Given the description of an element on the screen output the (x, y) to click on. 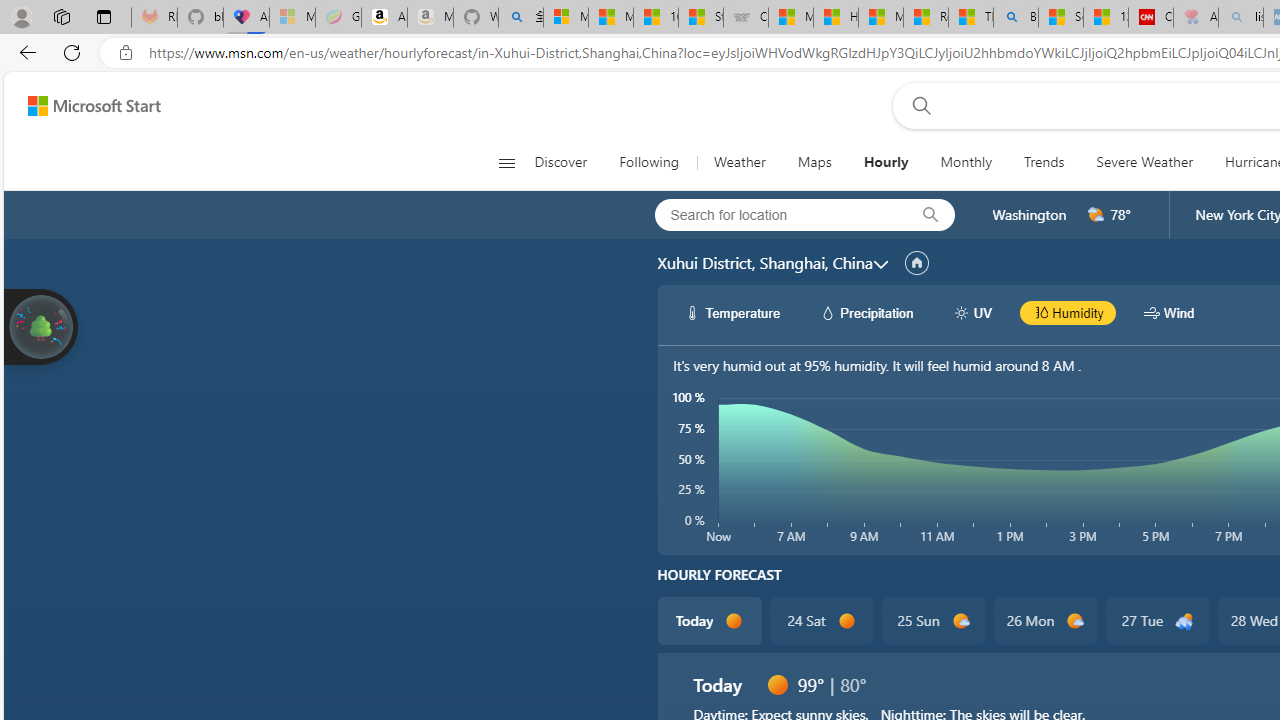
Today d0000 (708, 620)
d1000 (1075, 621)
hourlyChart/precipitationWhite Precipitation (866, 312)
Monthly (966, 162)
common/carouselChevron (880, 264)
Join us in planting real trees to help our planet! (40, 327)
24 Sat d0000 (821, 620)
hourlyChart/precipitationWhite (828, 312)
